Given the description of an element on the screen output the (x, y) to click on. 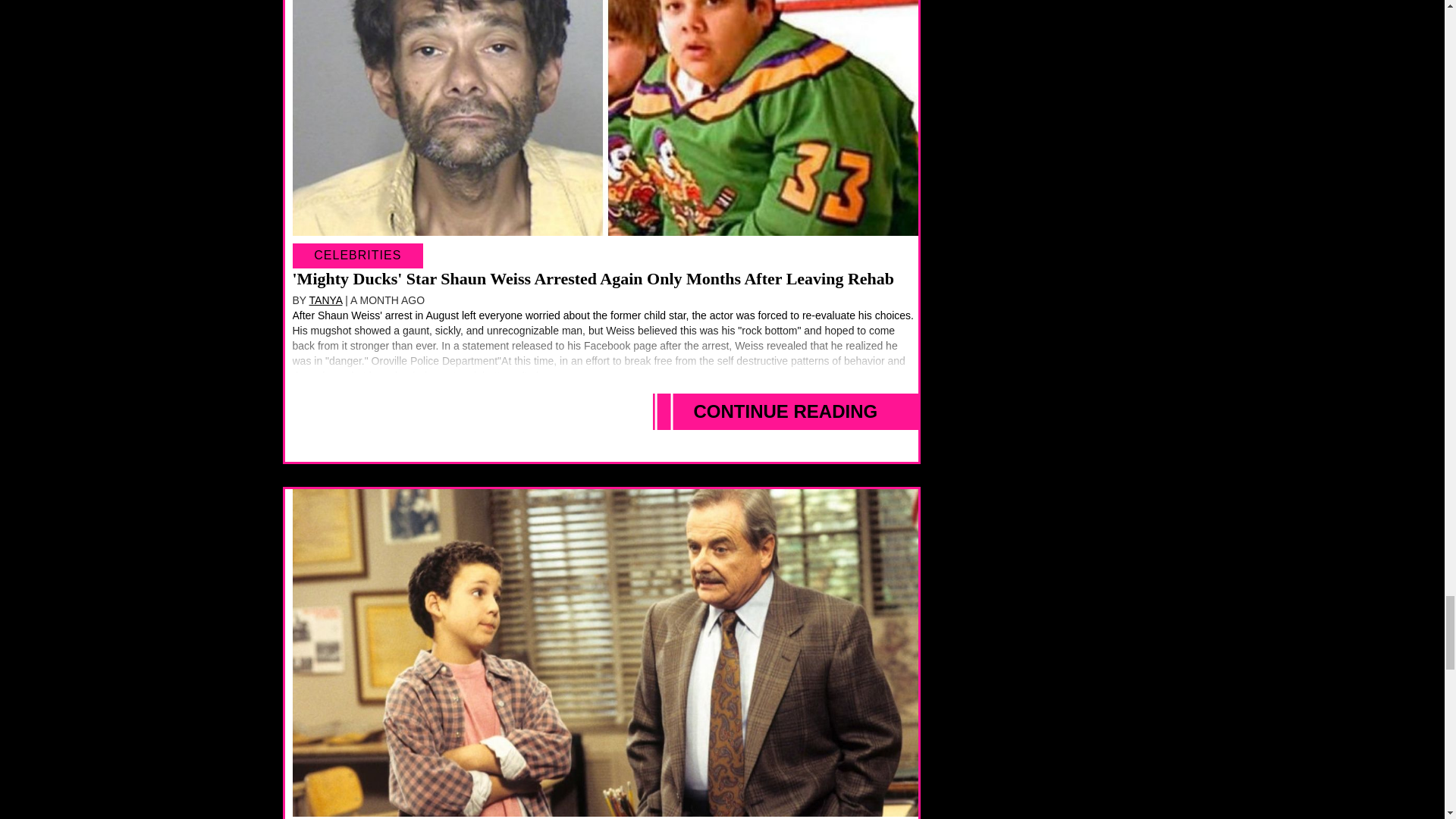
CELEBRITIES (357, 255)
TANYA (325, 300)
Tanya's Profile (325, 300)
CONTINUE READING (785, 411)
